Given the description of an element on the screen output the (x, y) to click on. 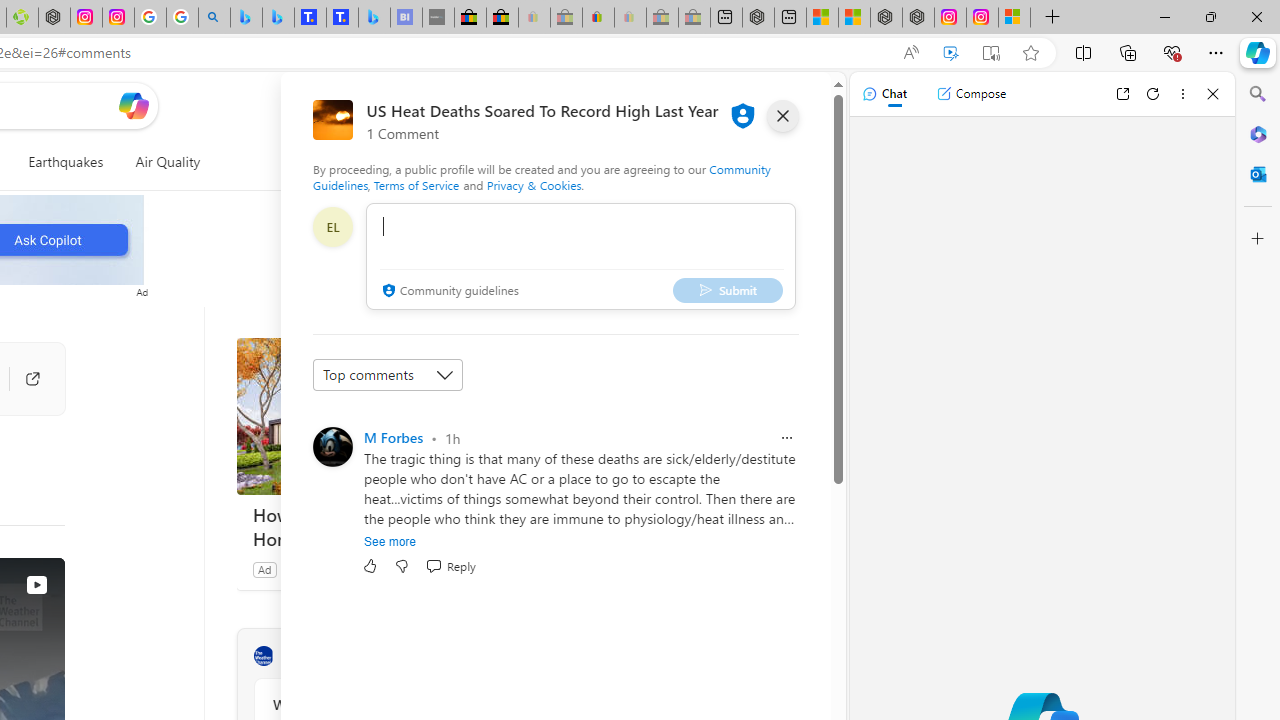
The importance of being lazy (854, 17)
Air Quality (159, 162)
Like (370, 565)
Sort comments by (388, 374)
Nordace - Nordace Edin Collection (54, 17)
Profile Picture (333, 446)
Profile Picture (333, 446)
Visit The Weather Channel website (511, 655)
